Given the description of an element on the screen output the (x, y) to click on. 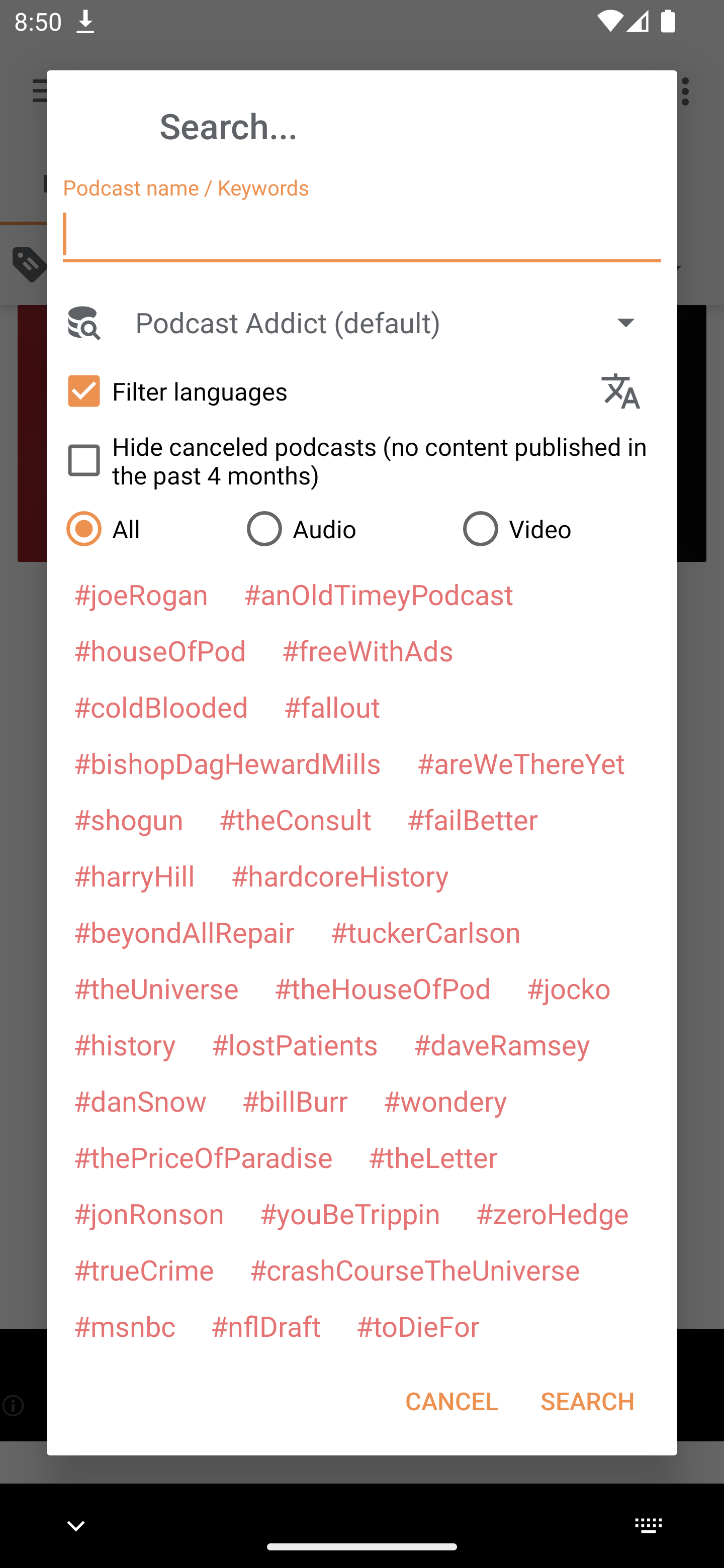
Podcast name / Keywords (361, 234)
Search Engine (82, 322)
Podcast Addict (default) (394, 322)
Languages selection (629, 390)
Filter languages (322, 390)
All (145, 528)
Audio (344, 528)
Video (560, 528)
#joeRogan (140, 594)
#anOldTimeyPodcast (378, 594)
#houseOfPod (159, 650)
#freeWithAds (367, 650)
#coldBlooded (160, 705)
#fallout (331, 705)
#bishopDagHewardMills (227, 762)
#areWeThereYet (521, 762)
#shogun (128, 818)
#theConsult (294, 818)
#failBetter (471, 818)
#harryHill (134, 875)
#hardcoreHistory (339, 875)
#beyondAllRepair (184, 931)
#tuckerCarlson (425, 931)
#theUniverse (155, 987)
#theHouseOfPod (381, 987)
#jocko (568, 987)
#history (124, 1044)
#lostPatients (294, 1044)
#daveRamsey (501, 1044)
#danSnow (139, 1100)
#billBurr (294, 1100)
#wondery (444, 1100)
#thePriceOfParadise (203, 1157)
#theLetter (432, 1157)
#jonRonson (148, 1213)
#youBeTrippin (349, 1213)
#zeroHedge (552, 1213)
#trueCrime (143, 1268)
#crashCourseTheUniverse (414, 1268)
#msnbc (124, 1325)
#nflDraft (265, 1325)
#toDieFor (417, 1325)
CANCEL (451, 1400)
SEARCH (587, 1400)
